Given the description of an element on the screen output the (x, y) to click on. 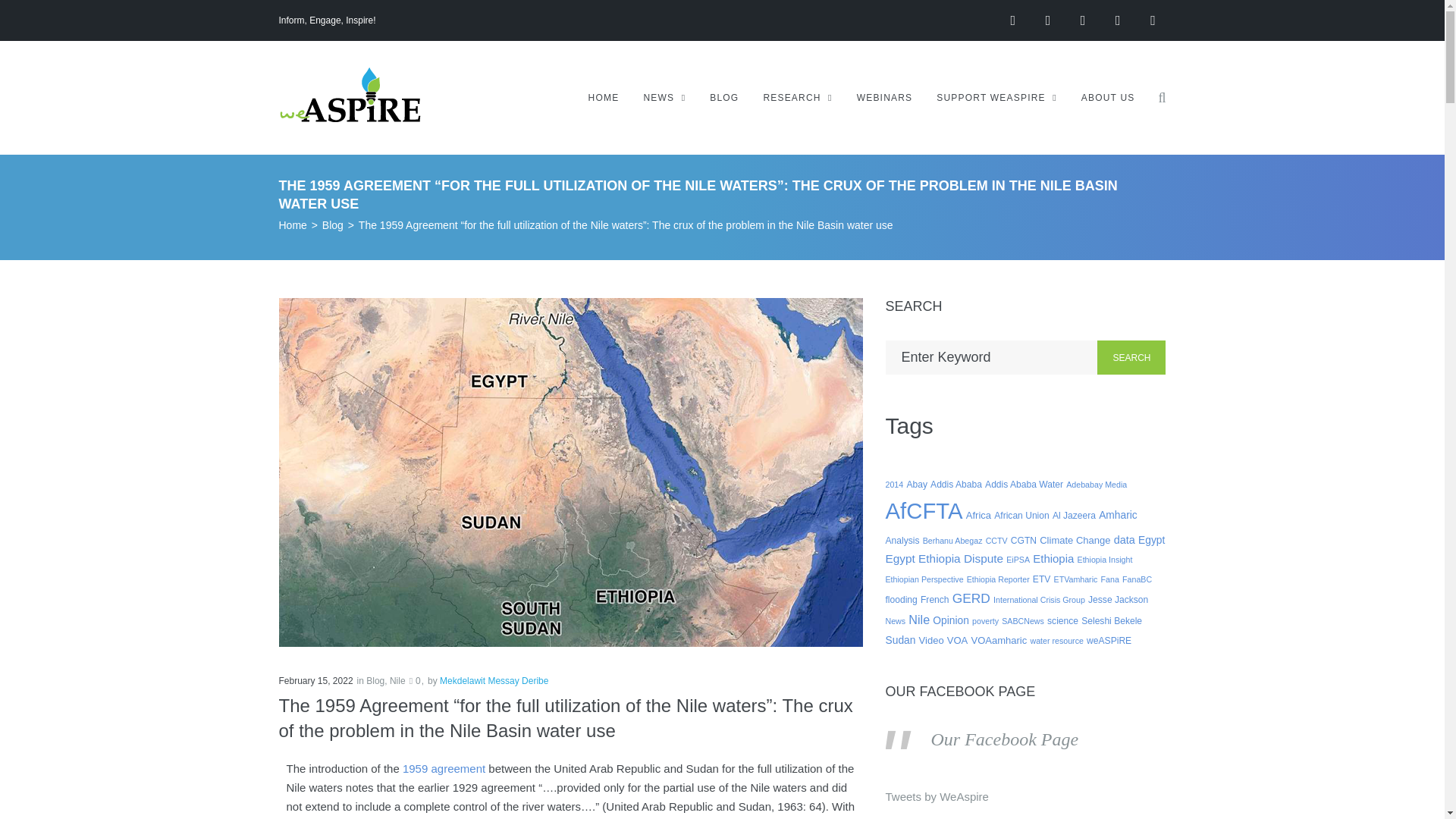
SUPPORT WEASPIRE (996, 97)
Mekdelawit Messay Deribe (493, 680)
Home (293, 225)
1959 agreement (443, 768)
RESEARCH (796, 97)
February 15, 2022 (316, 680)
Search for: (991, 357)
NEWS (664, 97)
BLOG (724, 97)
Home (293, 225)
Nile (398, 680)
HOME (604, 97)
WEBINARS (884, 97)
Blog (332, 225)
Blog (375, 680)
